Given the description of an element on the screen output the (x, y) to click on. 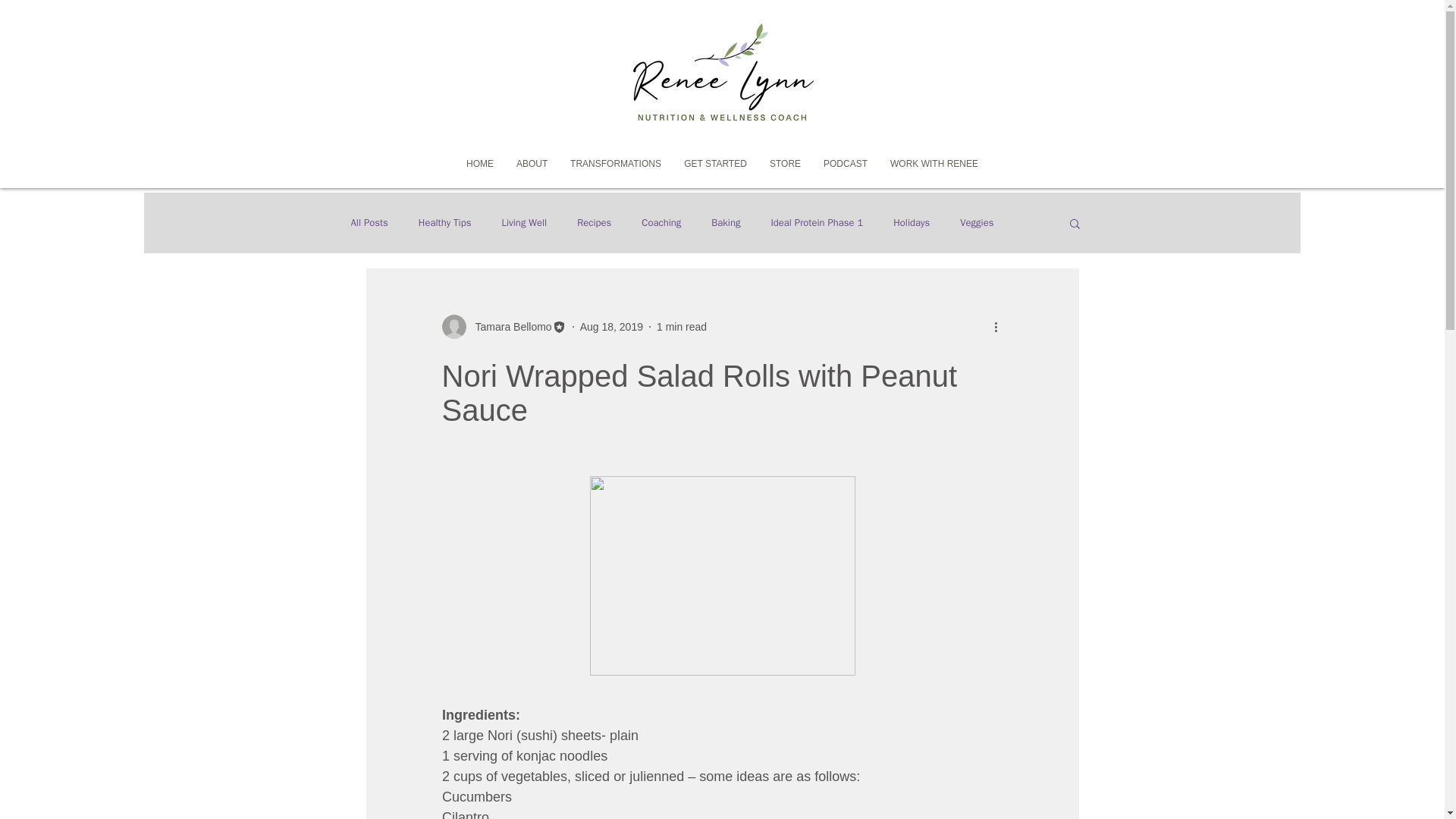
ABOUT (532, 163)
TRANSFORMATIONS (615, 163)
1 min read (681, 326)
Veggies (975, 223)
STORE (785, 163)
GET STARTED (715, 163)
Baking (725, 223)
PODCAST (845, 163)
Healthy Tips (445, 223)
Coaching (661, 223)
